Given the description of an element on the screen output the (x, y) to click on. 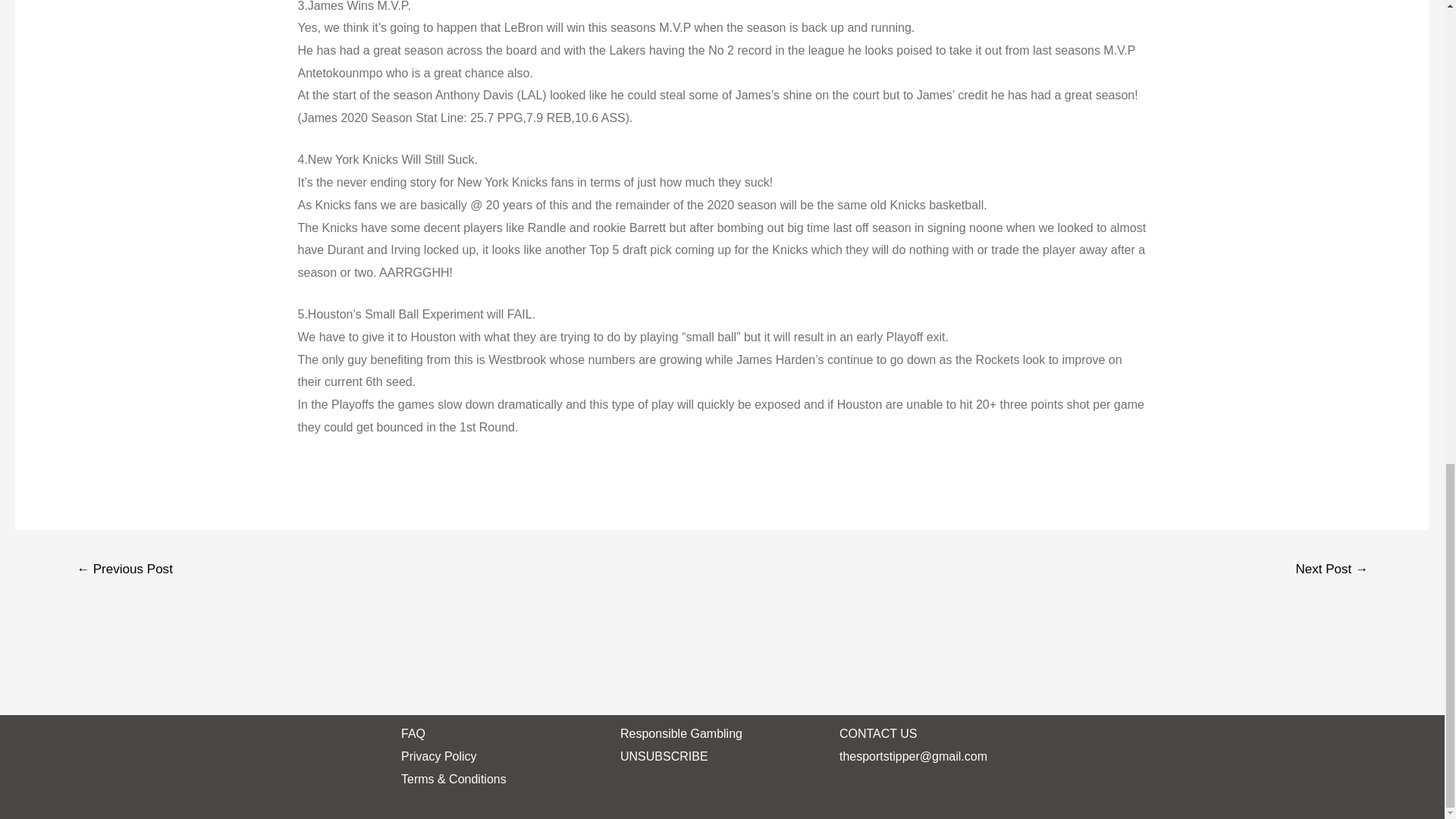
FAQ (413, 733)
Privacy Policy (439, 756)
CONTACT US (878, 733)
Responsible Gambling (681, 733)
UNSUBSCRIBE (663, 756)
